Given the description of an element on the screen output the (x, y) to click on. 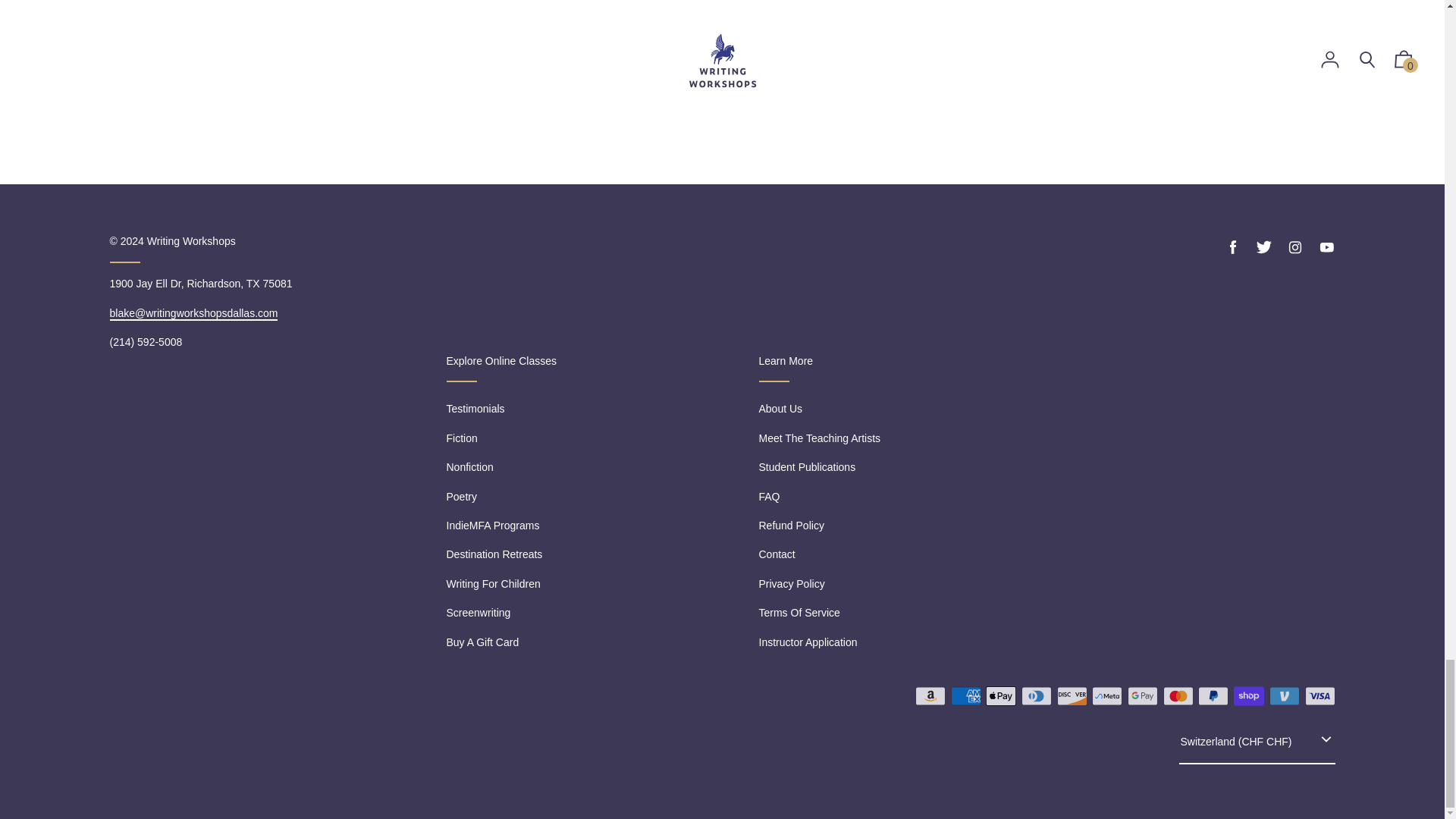
Writing Workshops on Instagram (1295, 247)
Venmo (1284, 695)
Shop Pay (1248, 695)
Meta Pay (1107, 695)
Apple Pay (1000, 695)
Visa (1319, 695)
Diners Club (1036, 695)
Writing Workshops on YouTube (1326, 247)
Mastercard (1178, 695)
American Express (965, 695)
Google Pay (1141, 695)
Writing Workshops on Facebook (1232, 247)
Amazon (929, 695)
PayPal (1213, 695)
Writing Workshops on Twitter (1263, 247)
